Given the description of an element on the screen output the (x, y) to click on. 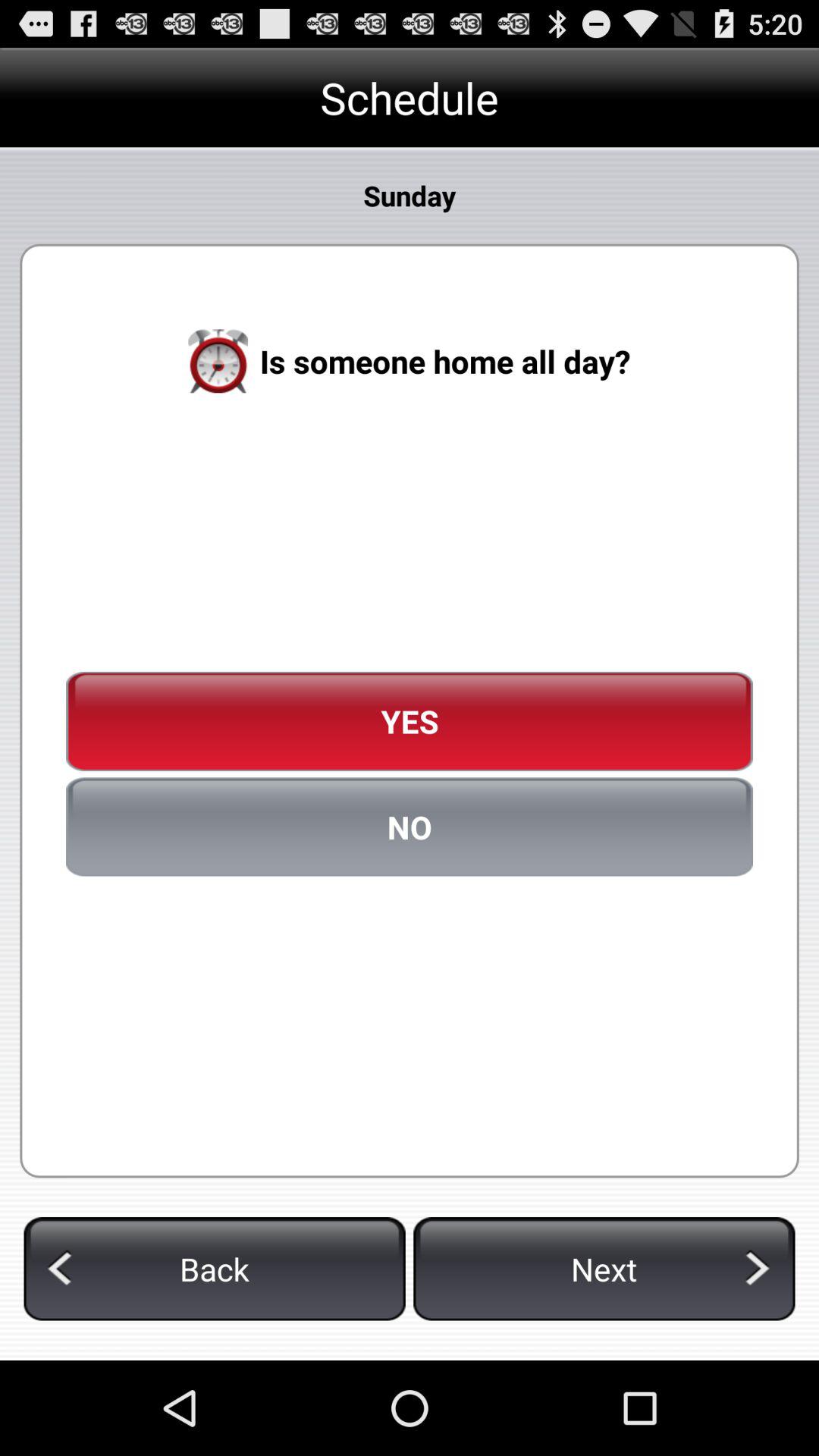
select item next to the back item (604, 1268)
